Given the description of an element on the screen output the (x, y) to click on. 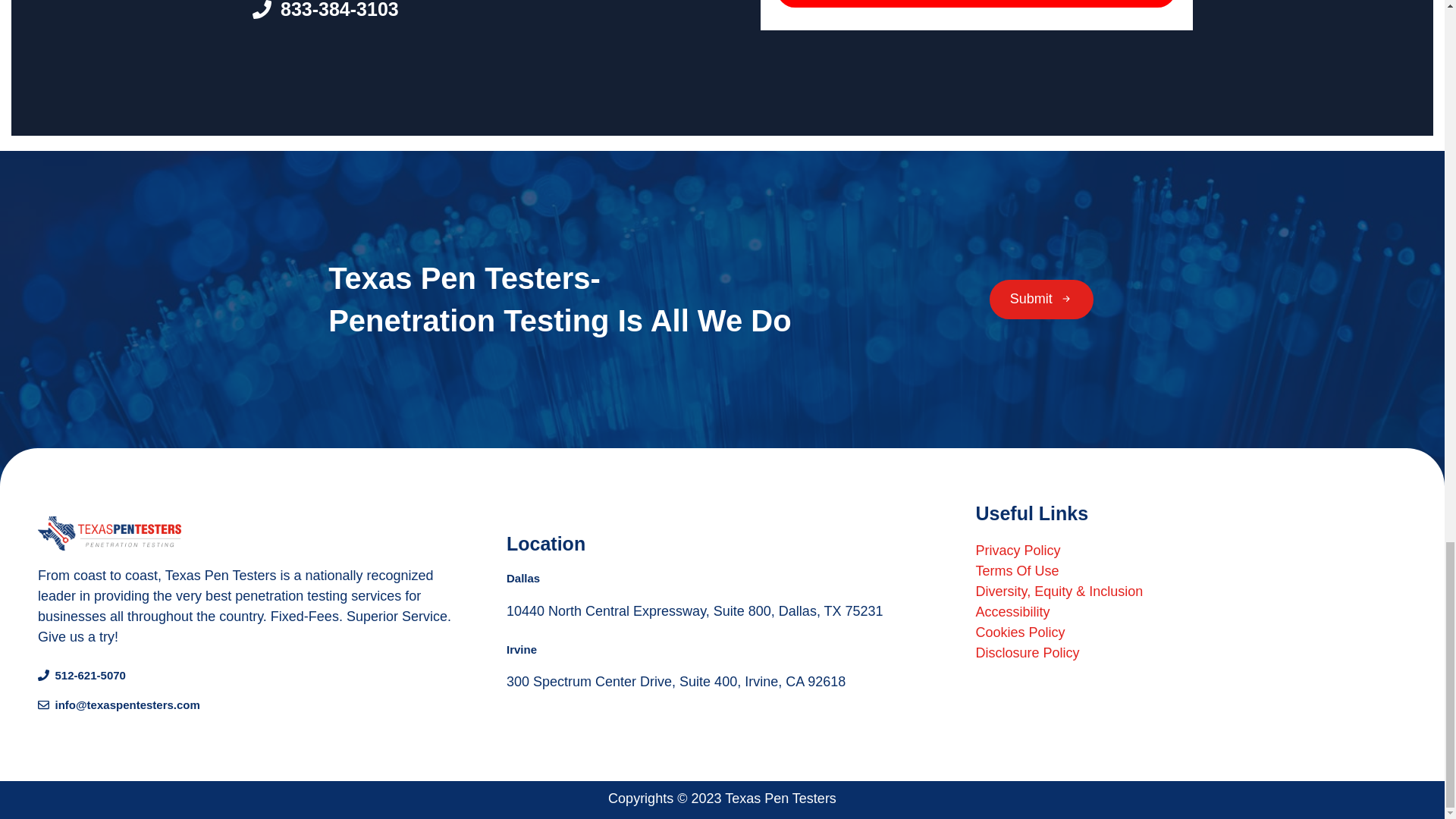
Submit Request (976, 3)
